Given the description of an element on the screen output the (x, y) to click on. 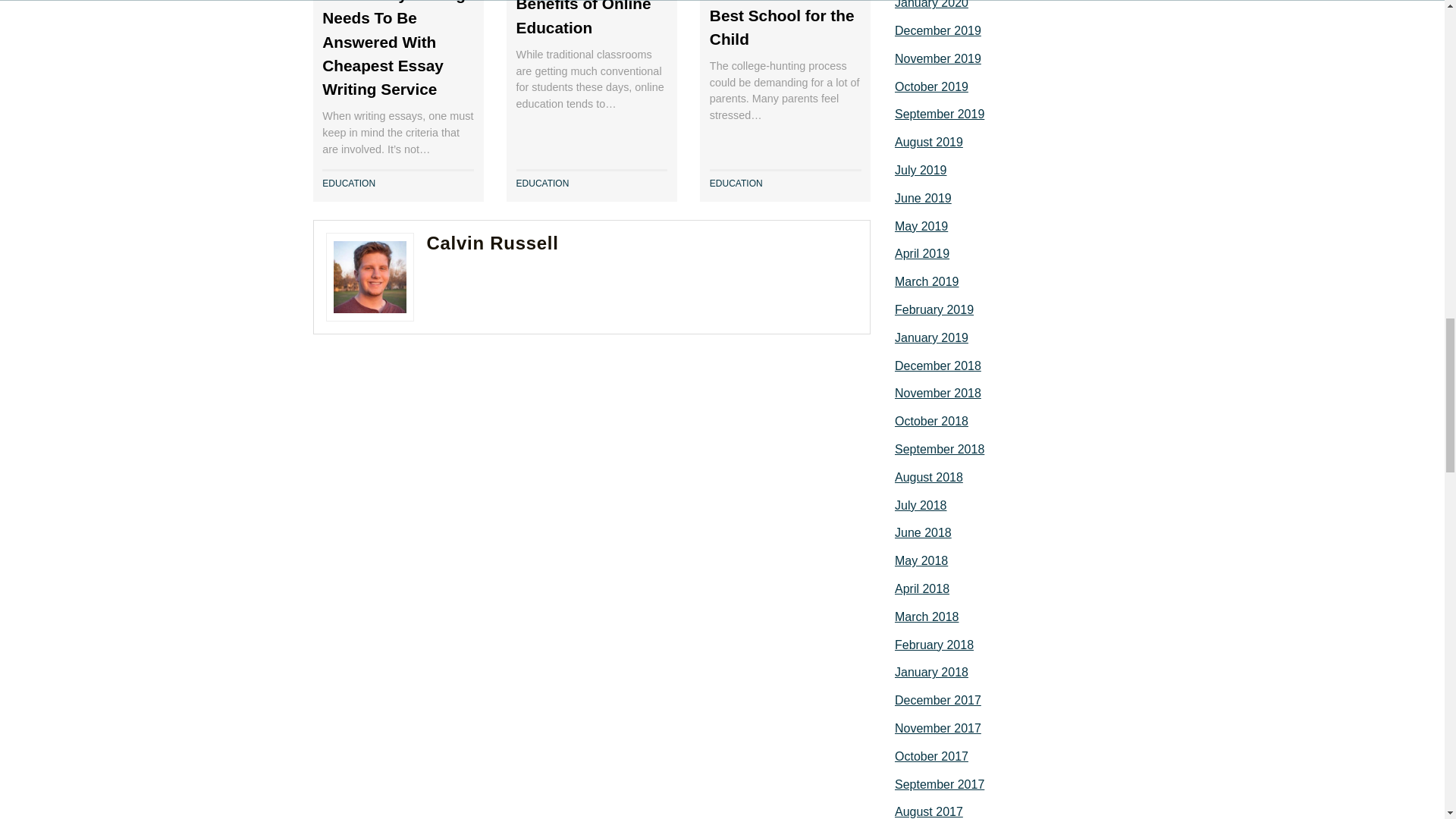
EDUCATION (348, 183)
EDUCATION (542, 183)
How to locate The Best School for the Child (782, 23)
EDUCATION (736, 183)
4 Most Common Benefits of Online Education (583, 18)
